Given the description of an element on the screen output the (x, y) to click on. 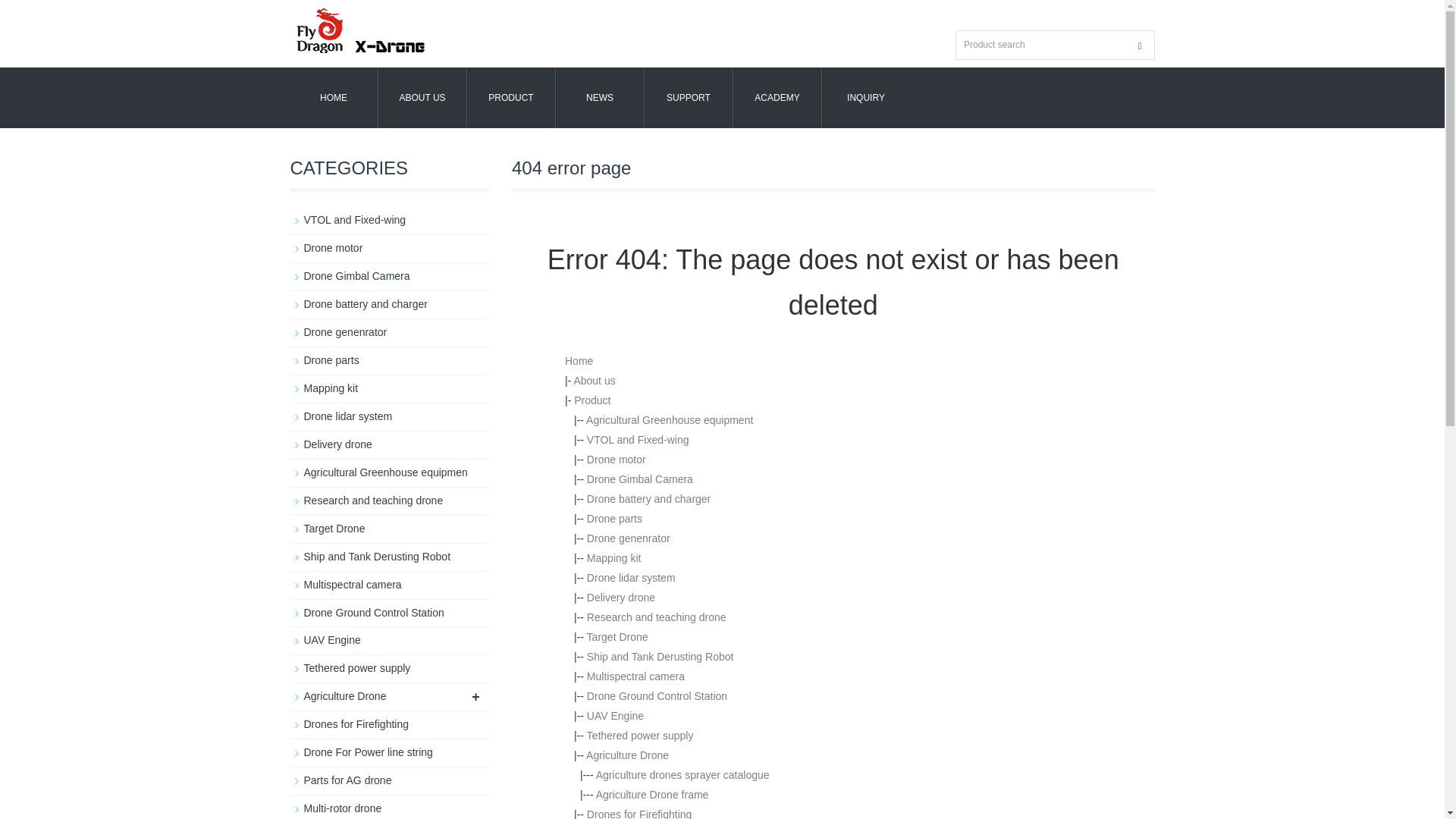
Agricultural Greenhouse equipment (669, 419)
SUPPORT (688, 97)
Product search (1139, 45)
INQUIRY (865, 97)
Home (578, 360)
ABOUT US (421, 97)
About us (593, 380)
NEWS (599, 97)
PRODUCT (510, 97)
HOME (333, 97)
